Given the description of an element on the screen output the (x, y) to click on. 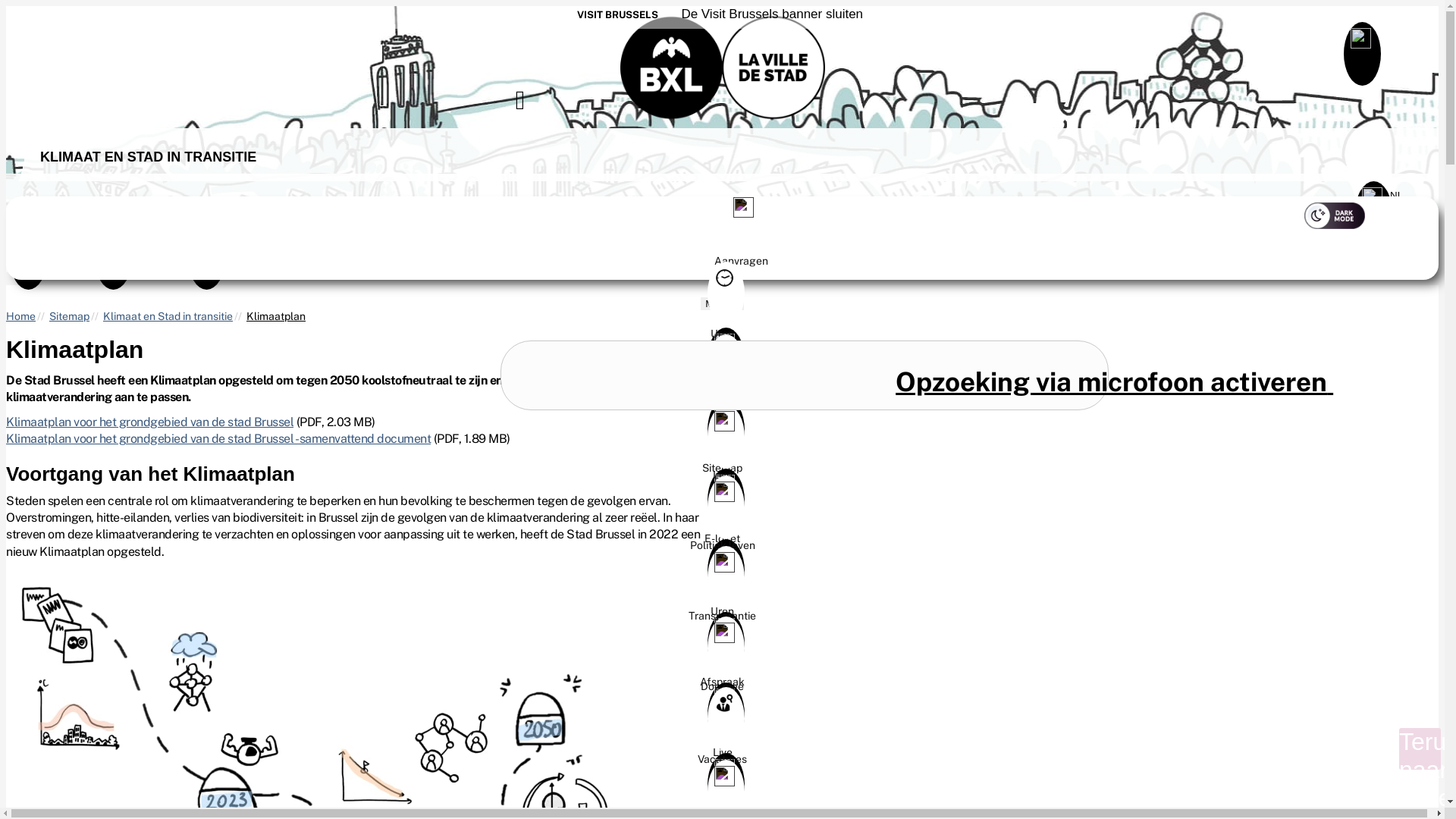
Klimaat en Stad in transitie Element type: text (167, 316)
VISIT BRUSSELS Element type: text (617, 14)
EN Element type: text (1422, 239)
Zoeken Element type: hover (804, 375)
Uren Element type: text (722, 605)
Transparantie Element type: text (722, 591)
E-loket Element type: text (722, 514)
Klimaatplan Element type: text (275, 316)
MyBXL Element type: text (204, 248)
Afspraak Element type: text (722, 380)
NL  Element type: text (1397, 194)
Sitemap Element type: text (69, 316)
Doe mee Element type: text (722, 662)
Zoeken Element type: text (538, 102)
Uren Element type: text (722, 327)
Opzoeking via microfoon activeren  Element type: text (1113, 381)
U bent Element type: text (26, 248)
  De Visit Brussels banner sluiten Element type: text (768, 14)
Home Element type: text (20, 316)
Live Element type: text (722, 728)
Politiek leven Element type: text (722, 521)
Terug naar boven Element type: text (1419, 748)
Klimaatplan voor het grondgebied van de stad Brussel Element type: text (149, 421)
Aanvragen Element type: text (783, 236)
Sitemap Element type: text (722, 443)
Afspraak Element type: text (722, 657)
Sitemap Element type: text (111, 248)
U bent Element type: text (722, 373)
Vacatures Element type: text (722, 752)
Menu    Element type: text (721, 303)
Live Element type: text (722, 450)
FR Element type: text (1421, 222)
